Given the description of an element on the screen output the (x, y) to click on. 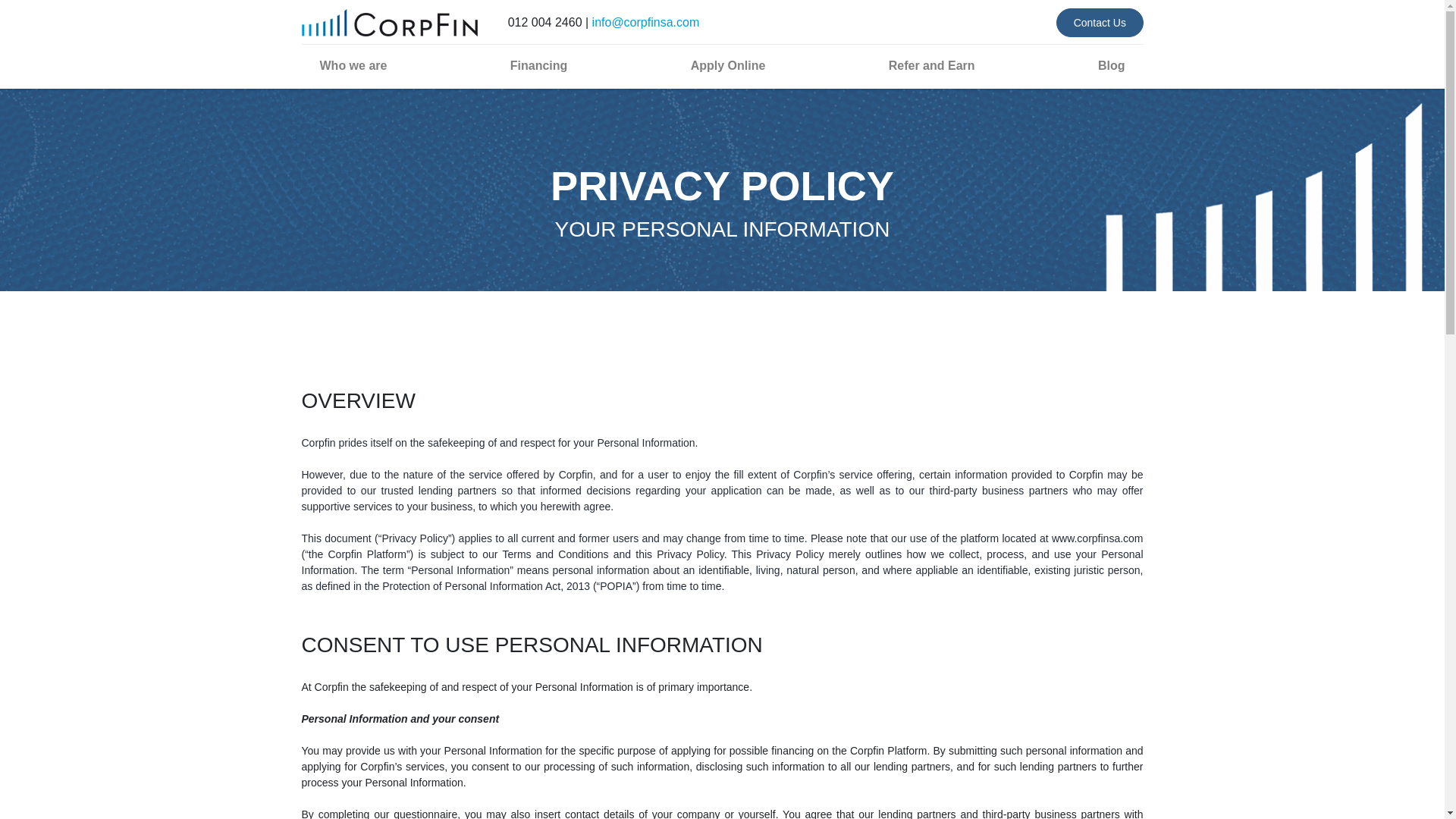
Who we are (353, 65)
Financing (539, 65)
Apply Online (728, 65)
CorpFin (389, 22)
Refer and Earn (931, 65)
Contact Us (1099, 22)
Blog (1111, 65)
www.corpfinsa.com (1096, 538)
